Given the description of an element on the screen output the (x, y) to click on. 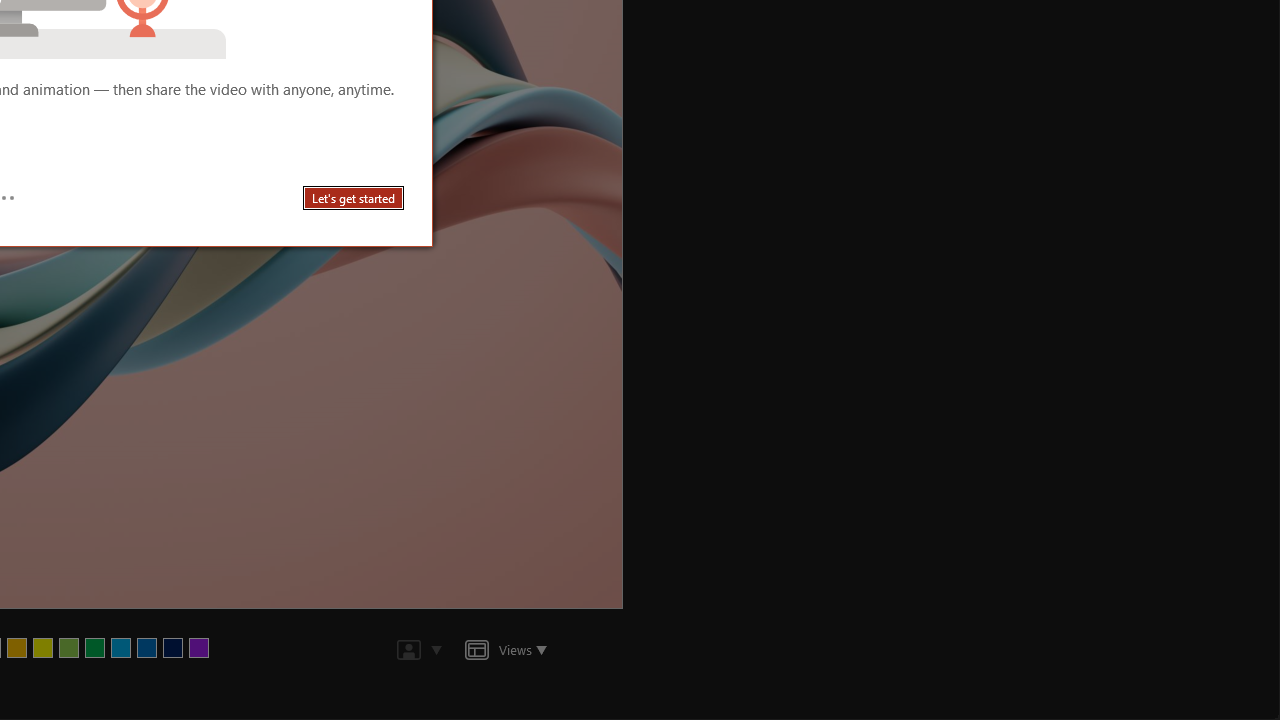
Let's get started (353, 197)
Zoom 160% (1234, 668)
